Given the description of an element on the screen output the (x, y) to click on. 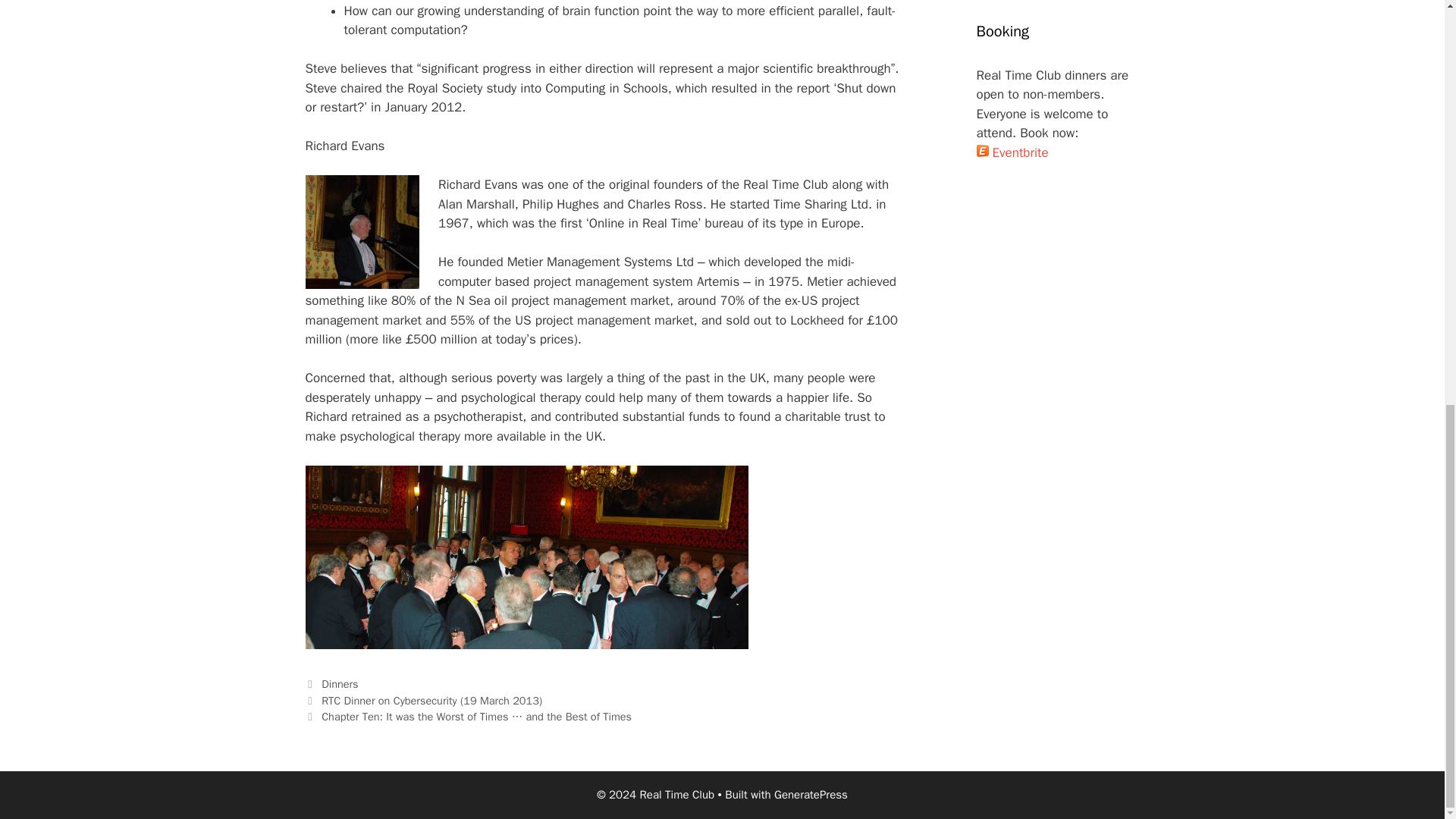
Previous (422, 700)
Richard Evans, founding member of the Real Time Club. (361, 232)
Pre-dinner reception at the House of Lords (526, 557)
GeneratePress (810, 794)
Eventbrite (1012, 152)
Dinners (339, 684)
Next (467, 716)
